Given the description of an element on the screen output the (x, y) to click on. 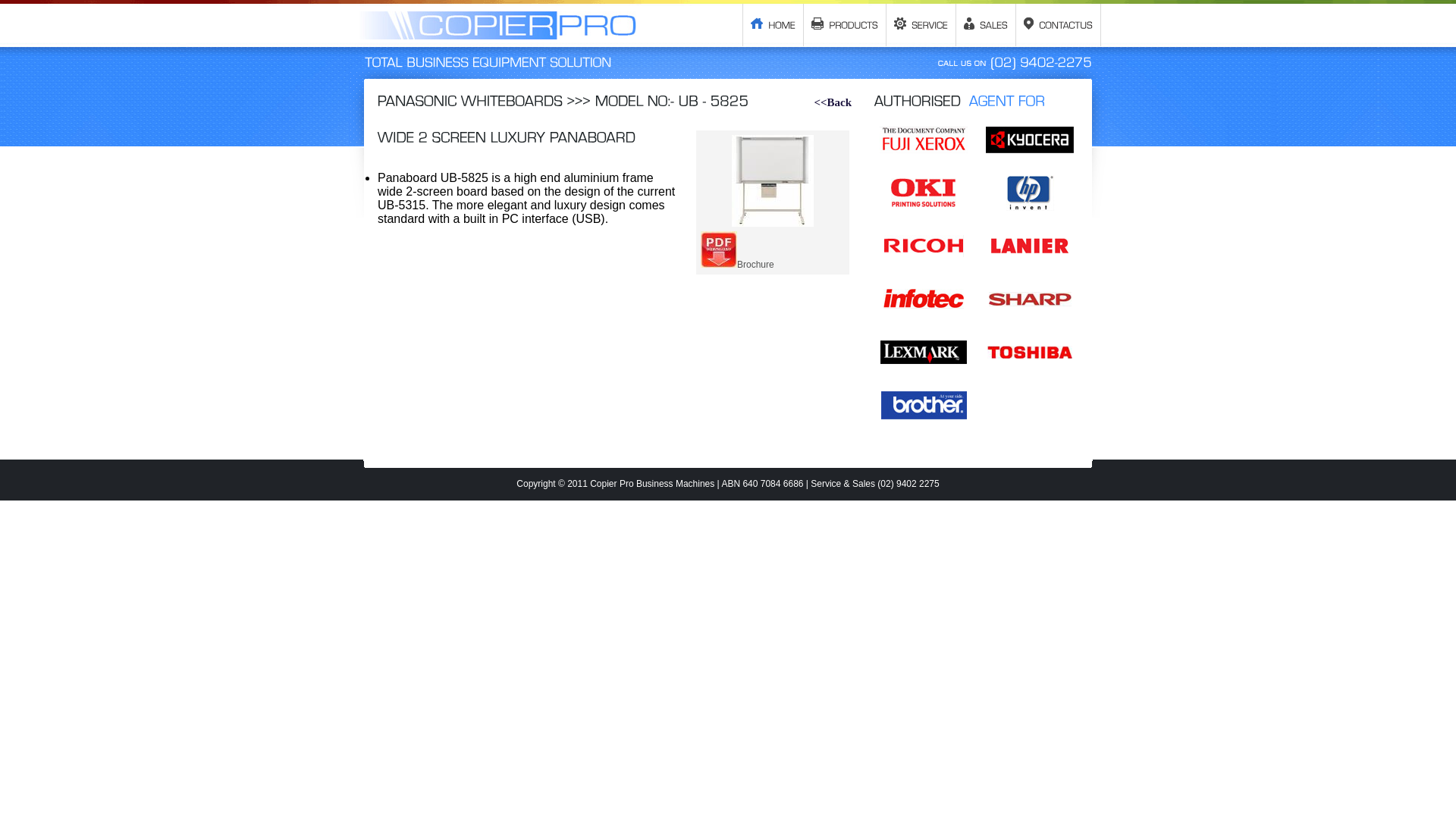
HOME Element type: text (773, 24)
SALES Element type: text (986, 24)
PRODUCTS Element type: text (844, 24)
Brochure Element type: text (737, 264)
CONTACTUS Element type: text (1058, 24)
SERVICE Element type: text (921, 24)
<<Back Element type: text (832, 102)
